Given the description of an element on the screen output the (x, y) to click on. 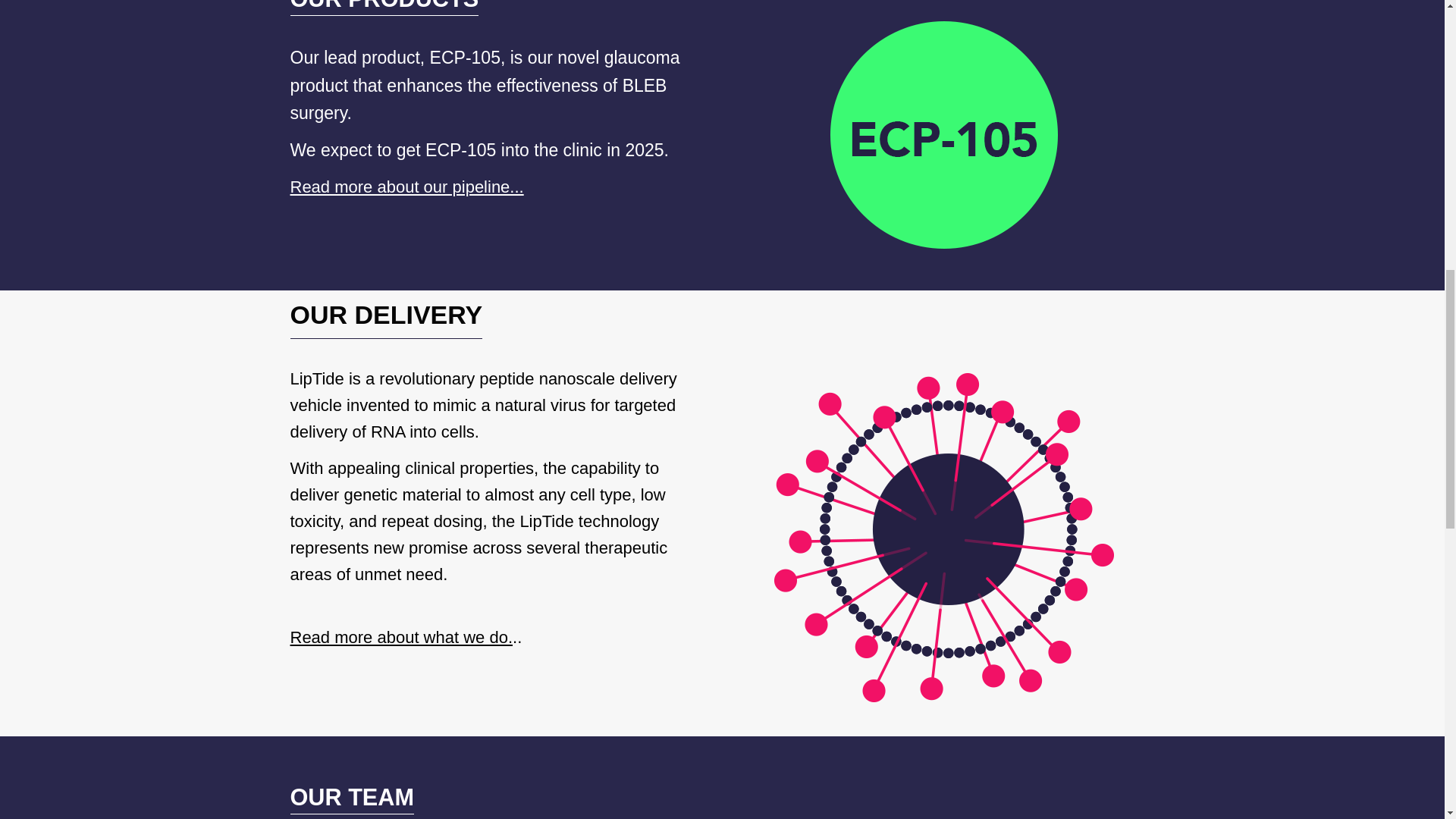
Read more about what we do... (405, 637)
Read more about our pipeline... (405, 186)
